Given the description of an element on the screen output the (x, y) to click on. 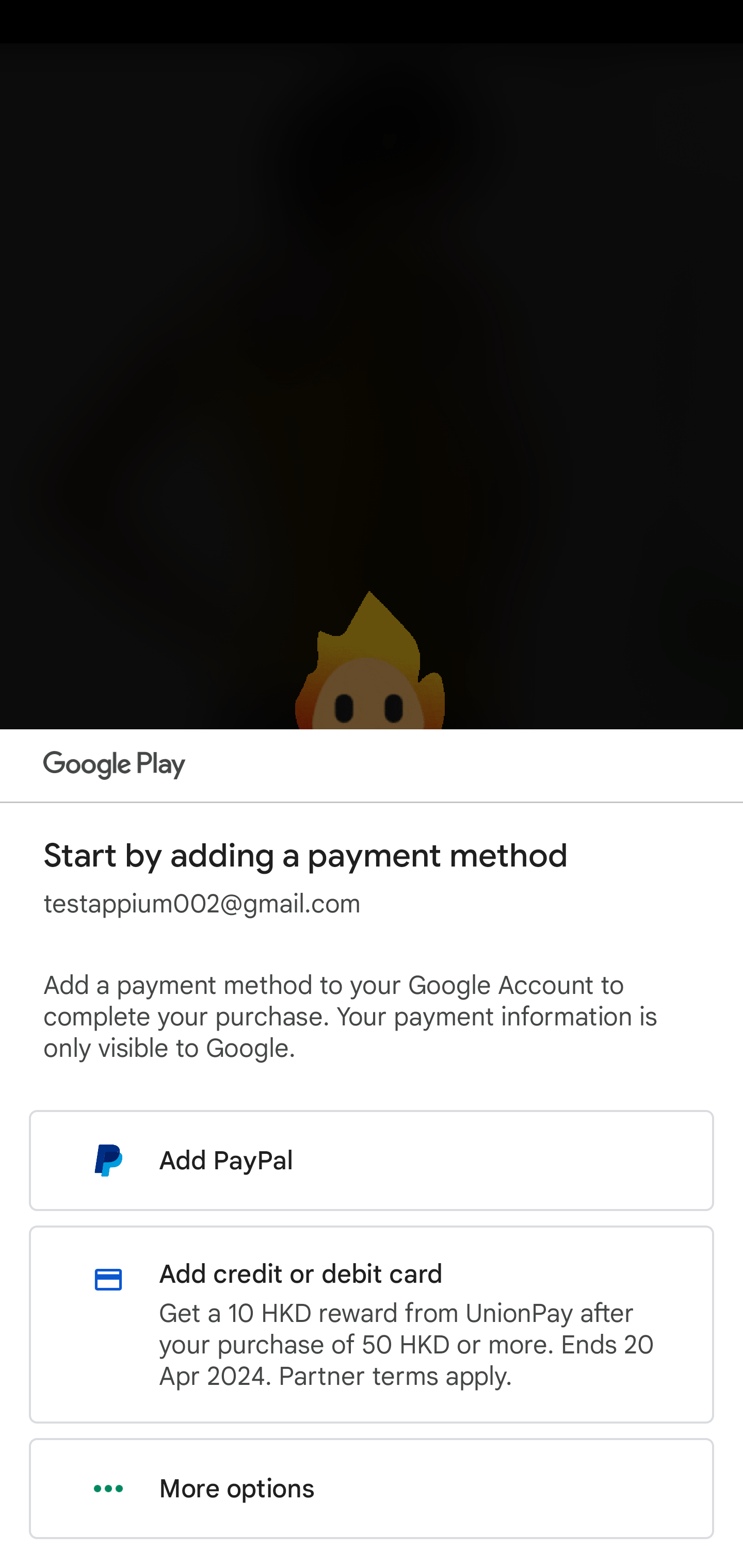
Add PayPal (371, 1160)
More options (371, 1488)
